Given the description of an element on the screen output the (x, y) to click on. 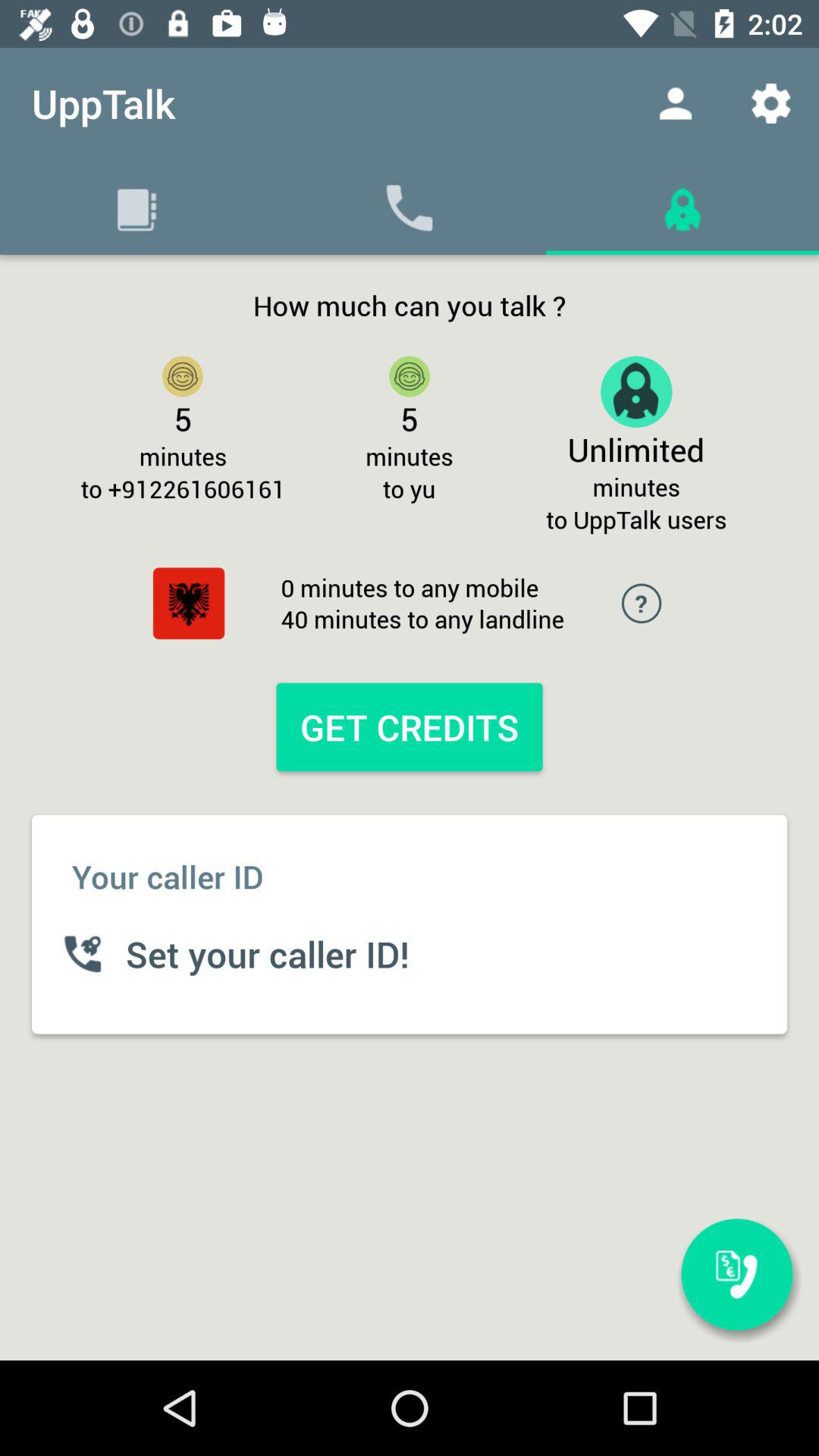
flip to get credits (409, 727)
